Given the description of an element on the screen output the (x, y) to click on. 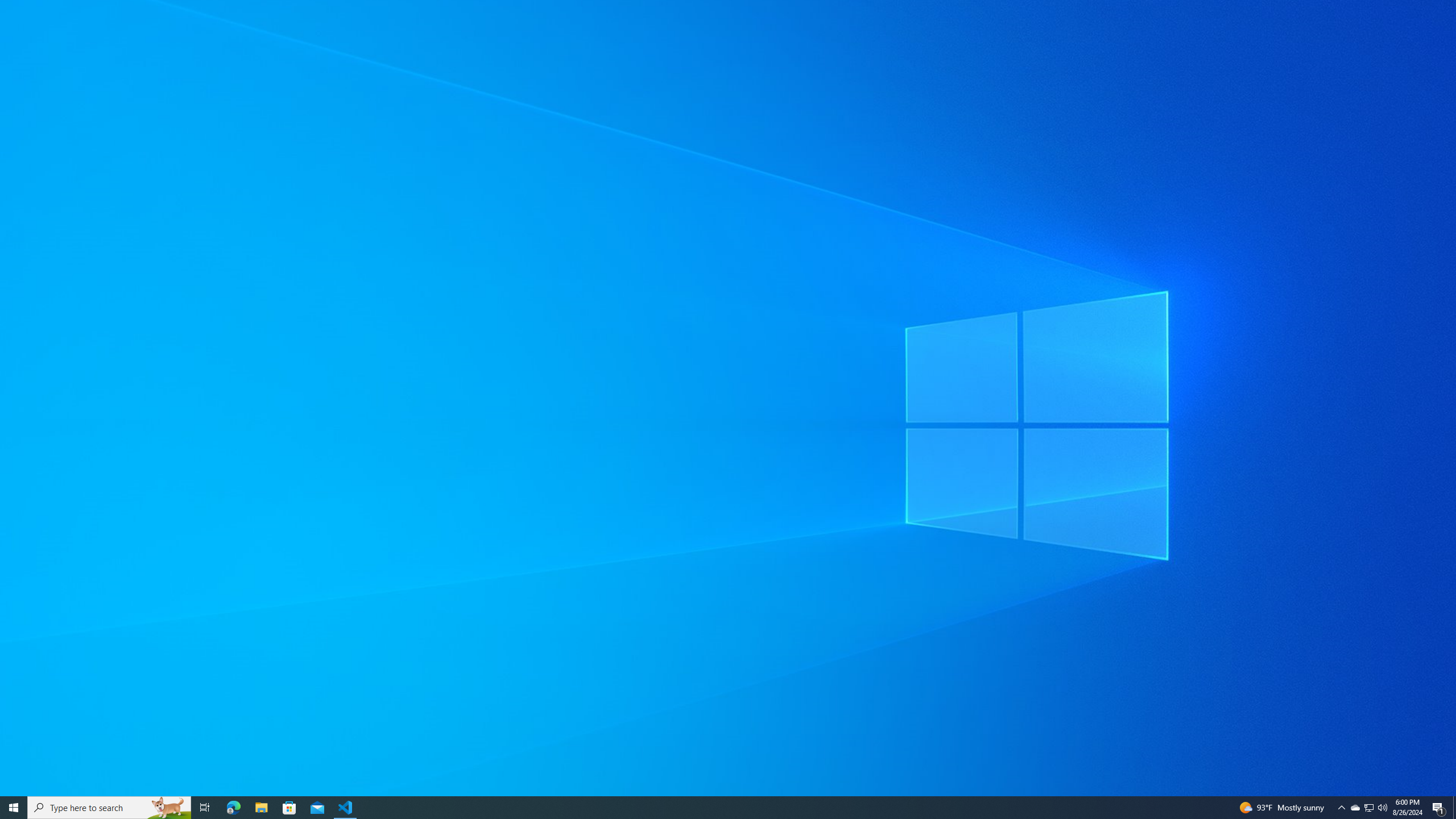
Action Center, 1 new notification (1439, 807)
Notification Chevron (1341, 807)
Type here to search (108, 807)
Visual Studio Code - 1 running window (345, 807)
Q2790: 100% (1368, 807)
File Explorer (1382, 807)
Show desktop (261, 807)
Task View (1454, 807)
Search highlights icon opens search home window (204, 807)
User Promoted Notification Area (167, 807)
Microsoft Edge (1368, 807)
